Given the description of an element on the screen output the (x, y) to click on. 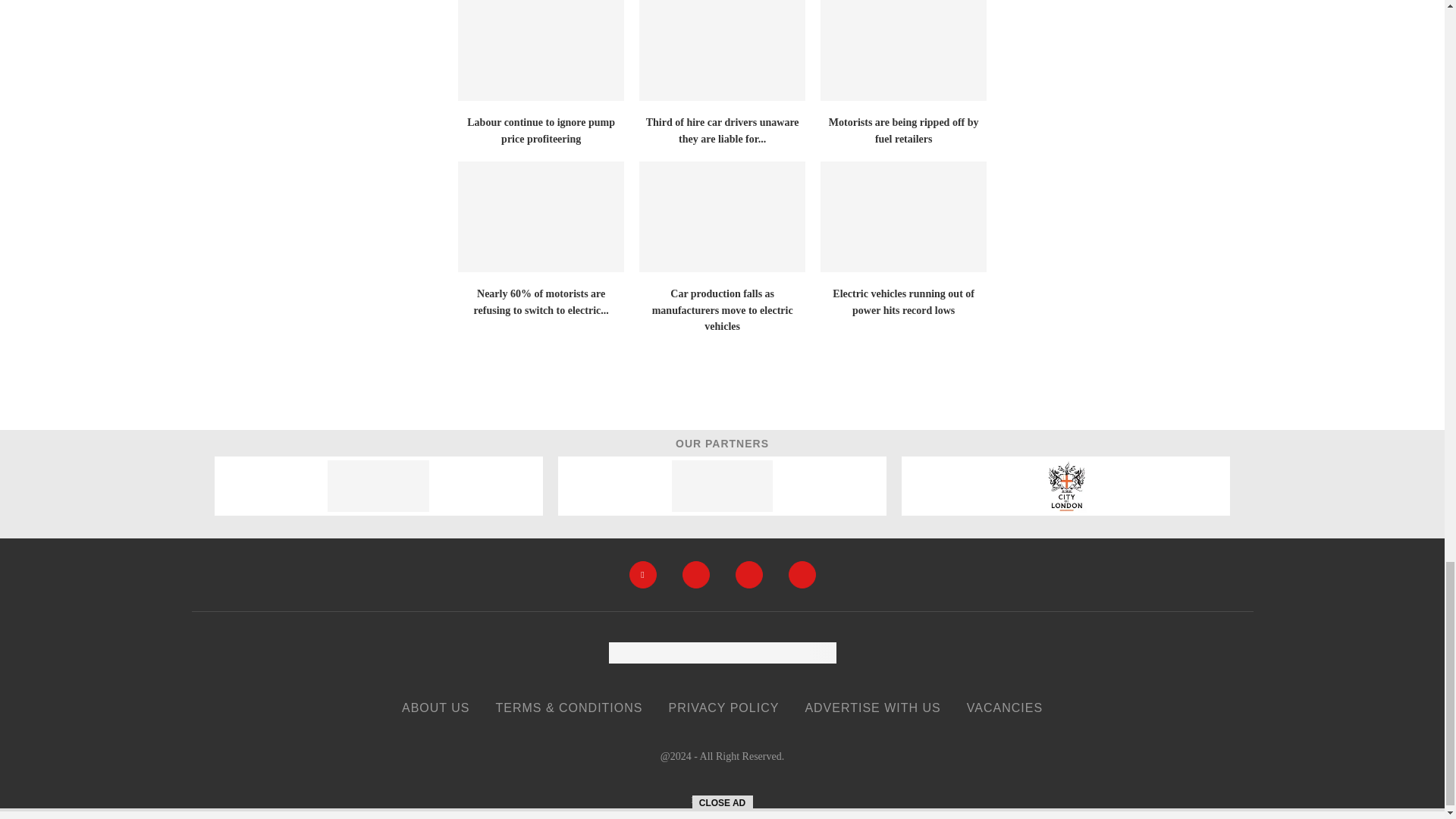
Motorists are being ripped off by fuel retailers (904, 50)
Electric vehicles running out of power hits record lows (904, 216)
Labour continue to ignore pump price profiteering (541, 50)
